Given the description of an element on the screen output the (x, y) to click on. 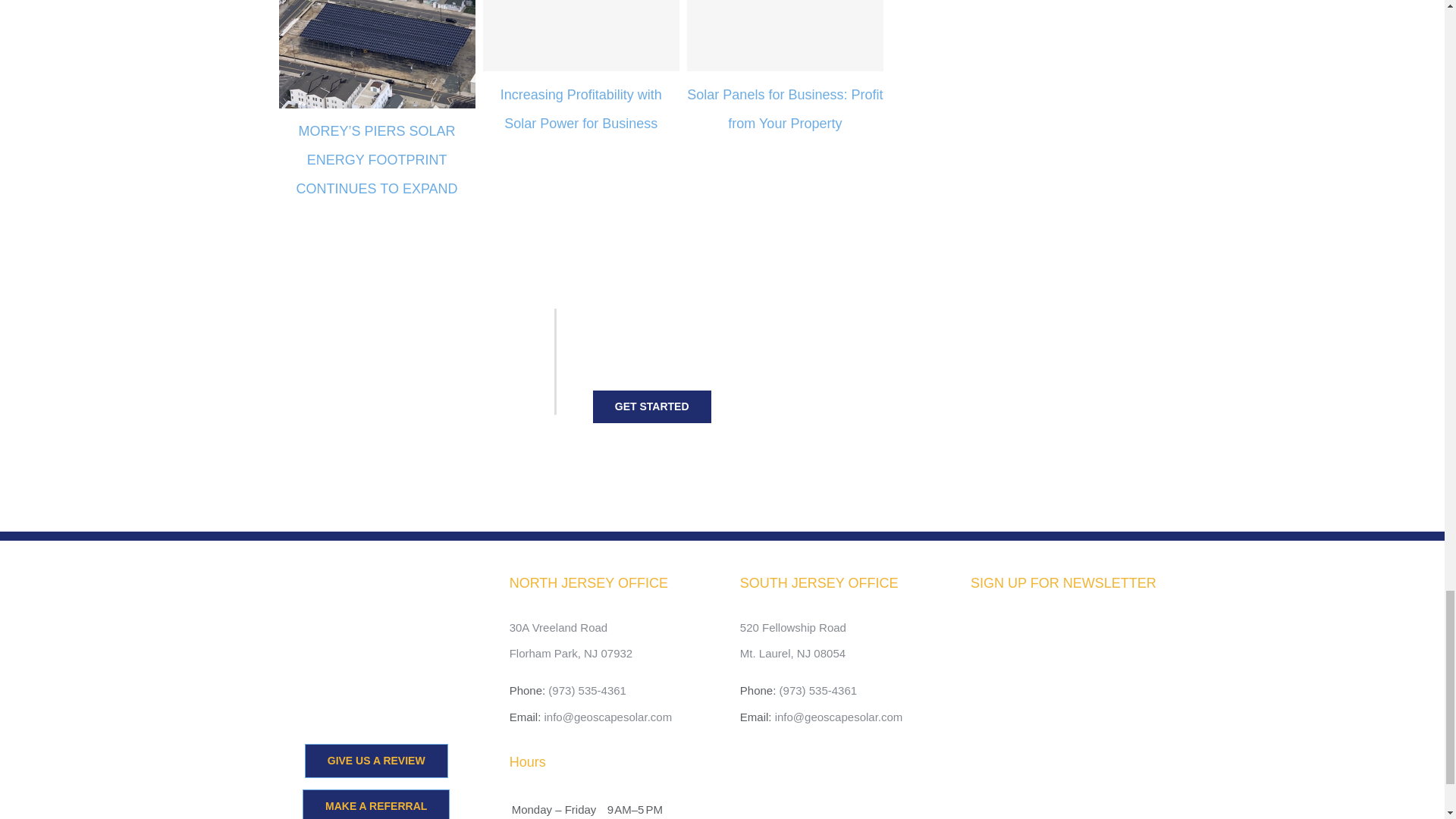
Increasing Profitability with Solar Power for Business (581, 108)
Solar Panels for Business: Profit from Your Property (784, 108)
